Given the description of an element on the screen output the (x, y) to click on. 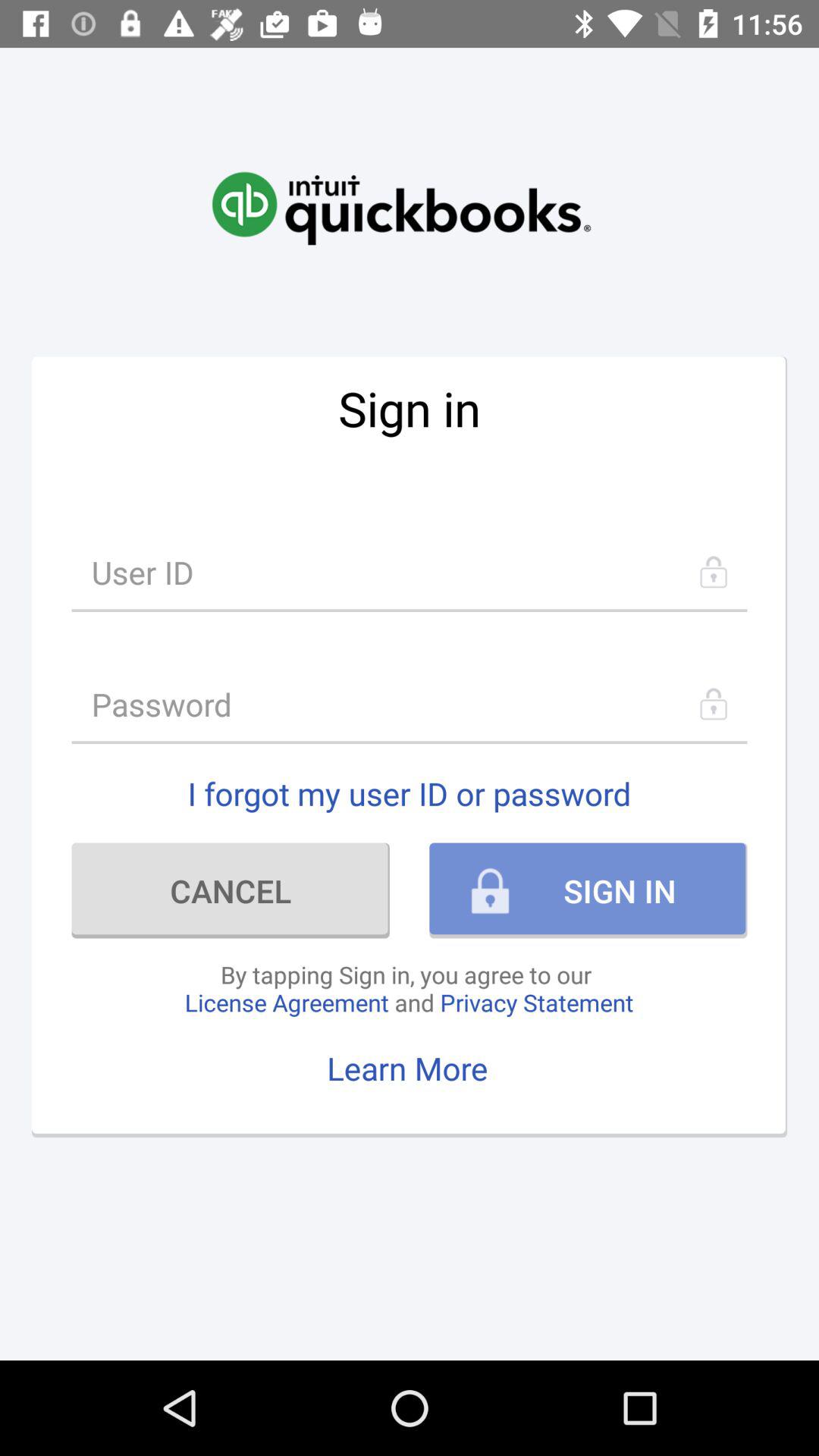
click the item below the i forgot my (230, 890)
